Given the description of an element on the screen output the (x, y) to click on. 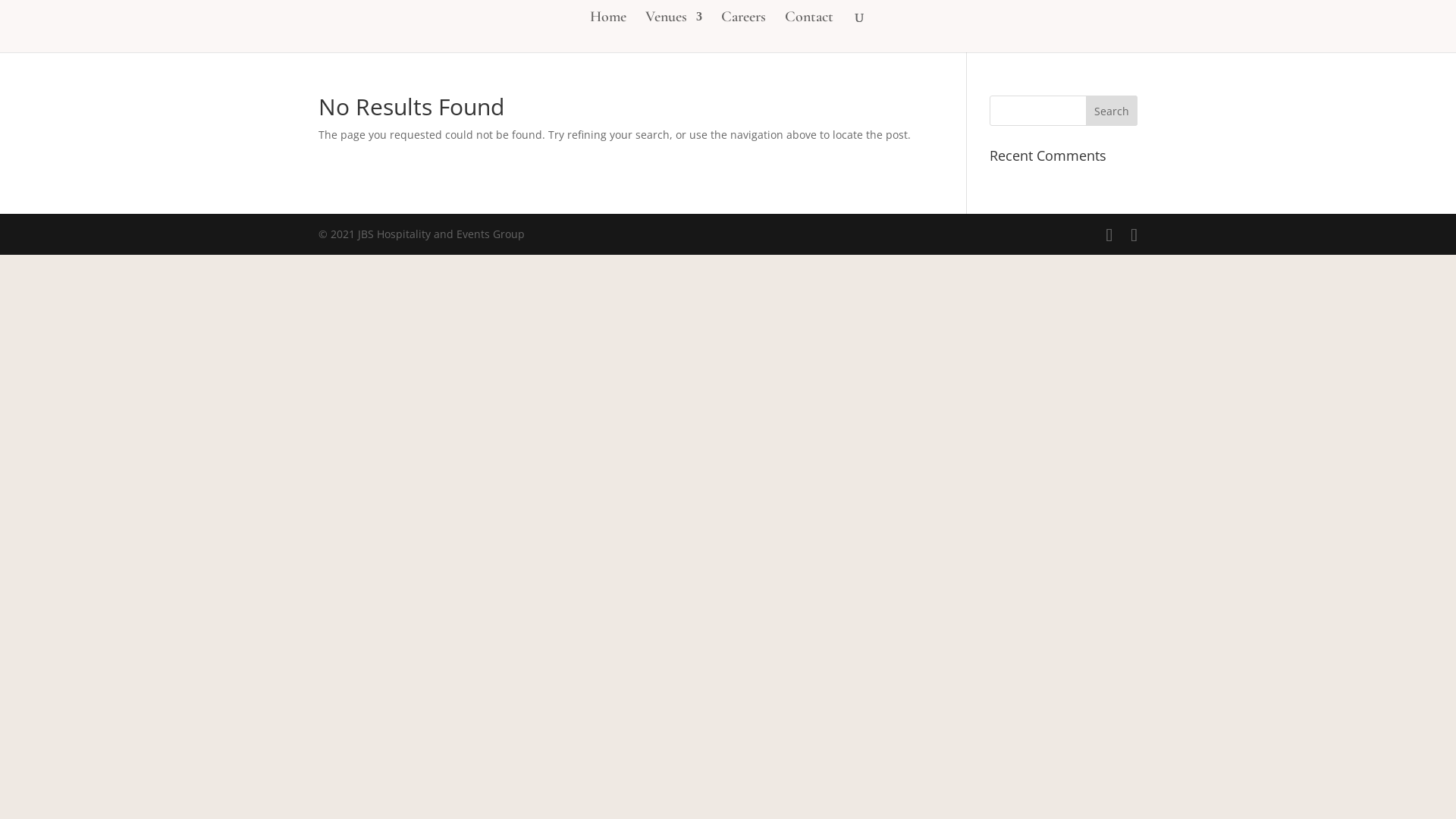
Home Element type: text (607, 31)
Careers Element type: text (743, 31)
Contact Element type: text (808, 31)
Venues Element type: text (673, 31)
Search Element type: text (1111, 110)
